Given the description of an element on the screen output the (x, y) to click on. 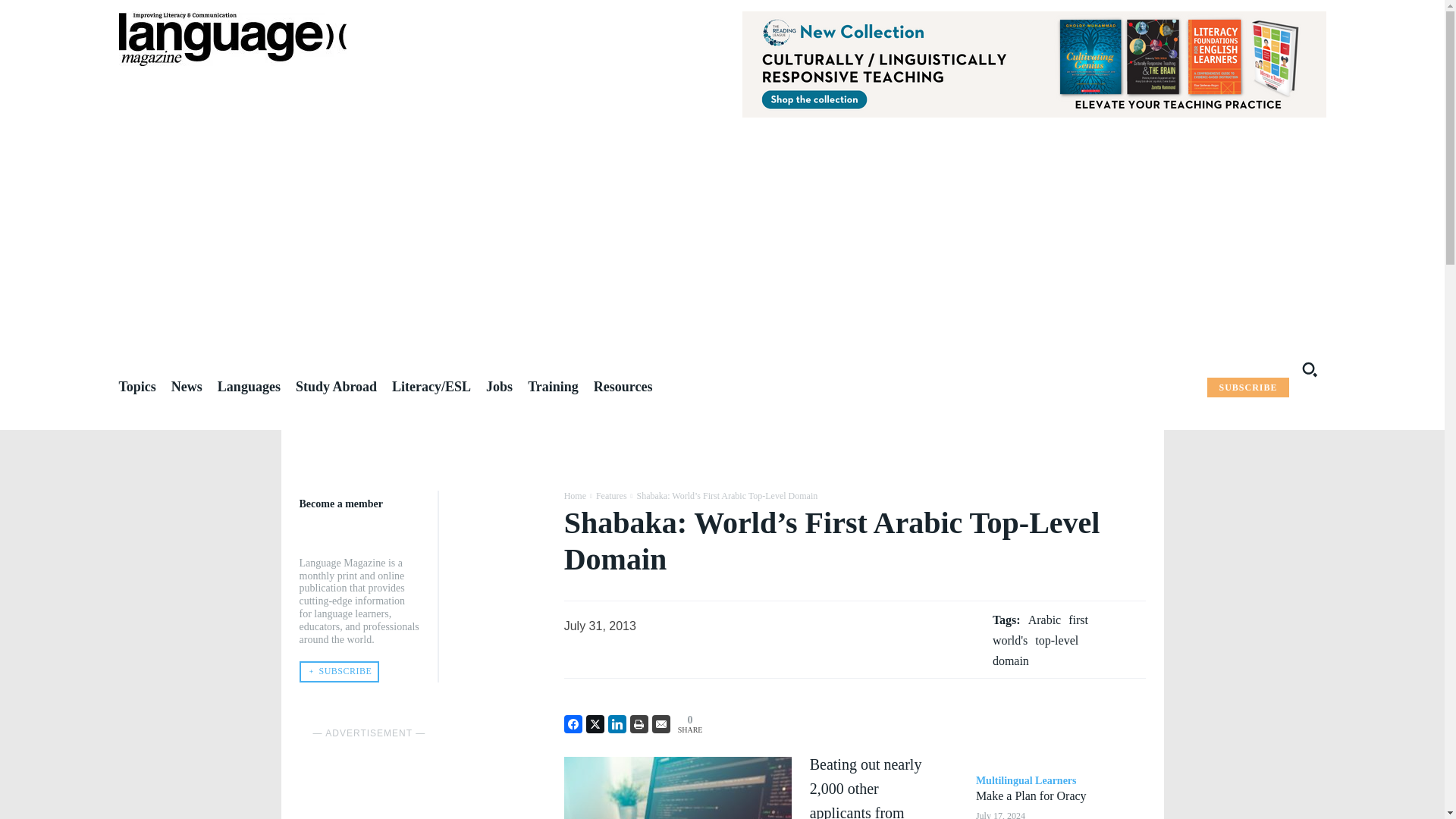
SUBSCRIBE (1247, 386)
